Given the description of an element on the screen output the (x, y) to click on. 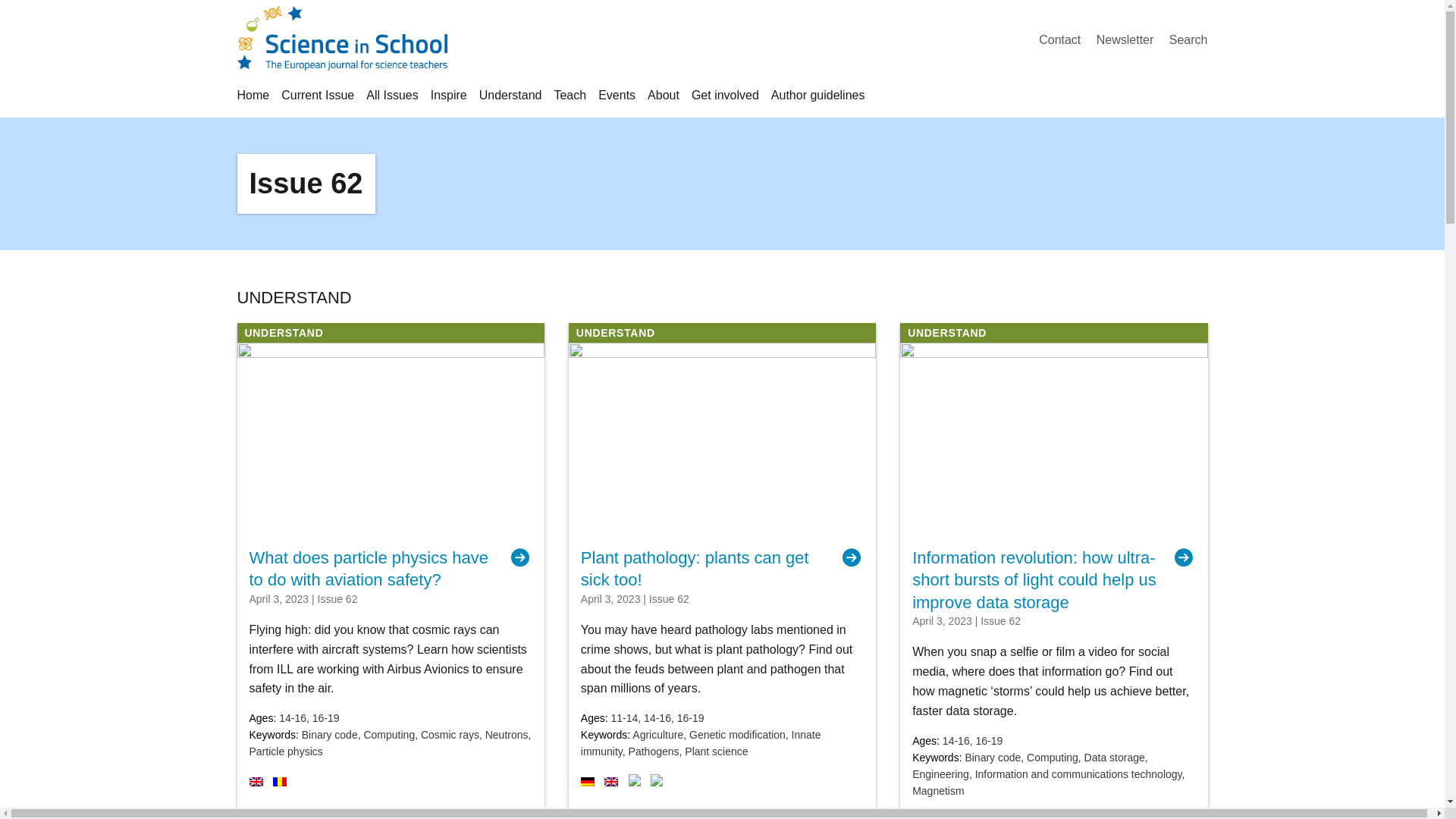
What does particle physics have to do with aviation safety? (389, 569)
Plant pathology: plants can get sick too! (721, 569)
Events (616, 94)
About (663, 94)
Inspire (448, 94)
Home (252, 94)
Current Issue (317, 94)
Understand (510, 94)
Search (1188, 39)
Contact (1059, 39)
Teach (569, 94)
Issue 62 (305, 183)
Author guidelines (817, 94)
Newsletter (1125, 39)
Get involved (724, 94)
